Given the description of an element on the screen output the (x, y) to click on. 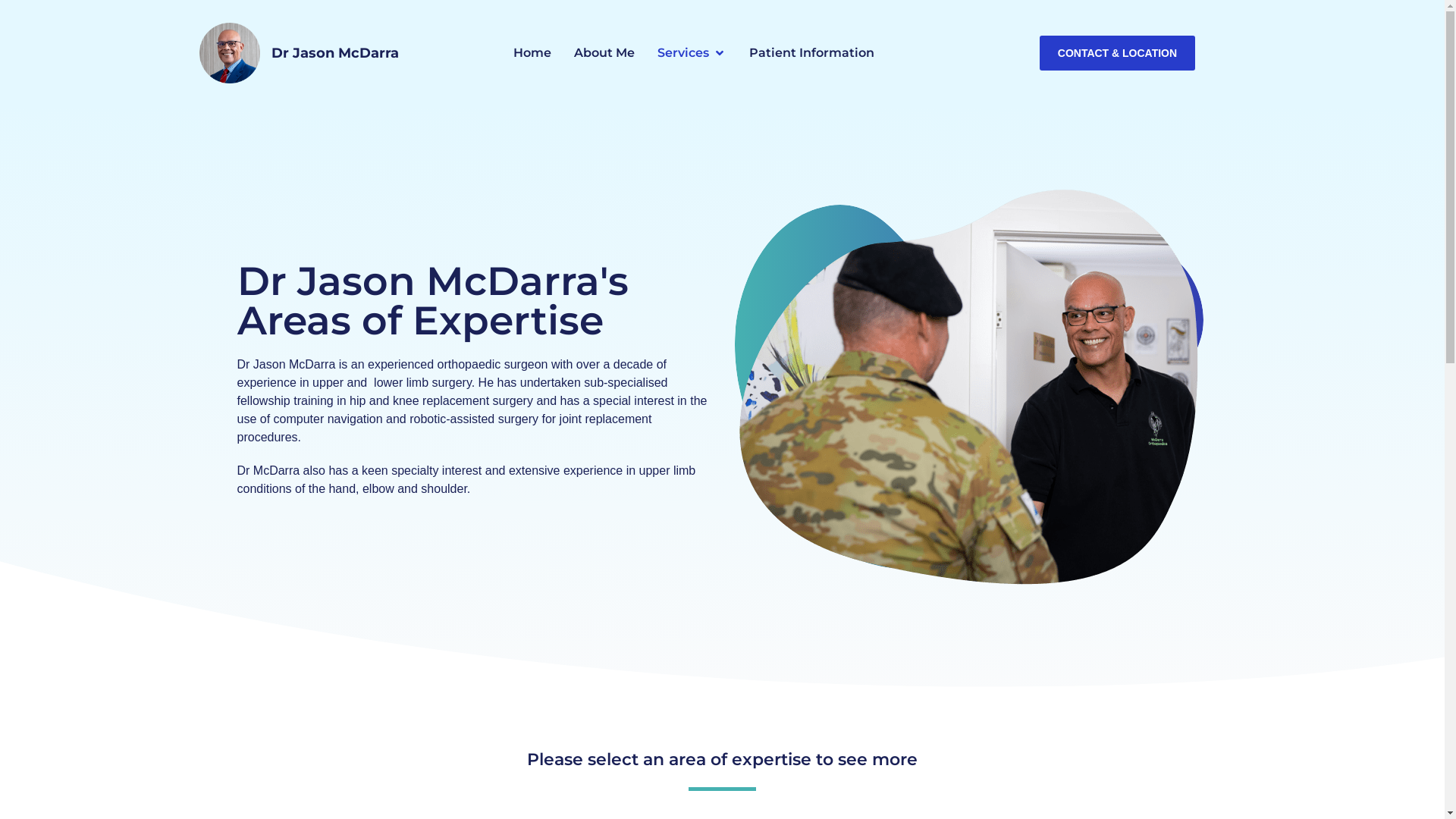
About Me Element type: text (603, 52)
Dr Jason McDarra Element type: text (334, 52)
CONTACT & LOCATION Element type: text (1117, 52)
dr_jason_mcdarra_orthopaedic_surgeon Element type: hover (228, 52)
Patient Information Element type: text (811, 52)
Home Element type: text (531, 52)
Services Element type: text (682, 52)
